Given the description of an element on the screen output the (x, y) to click on. 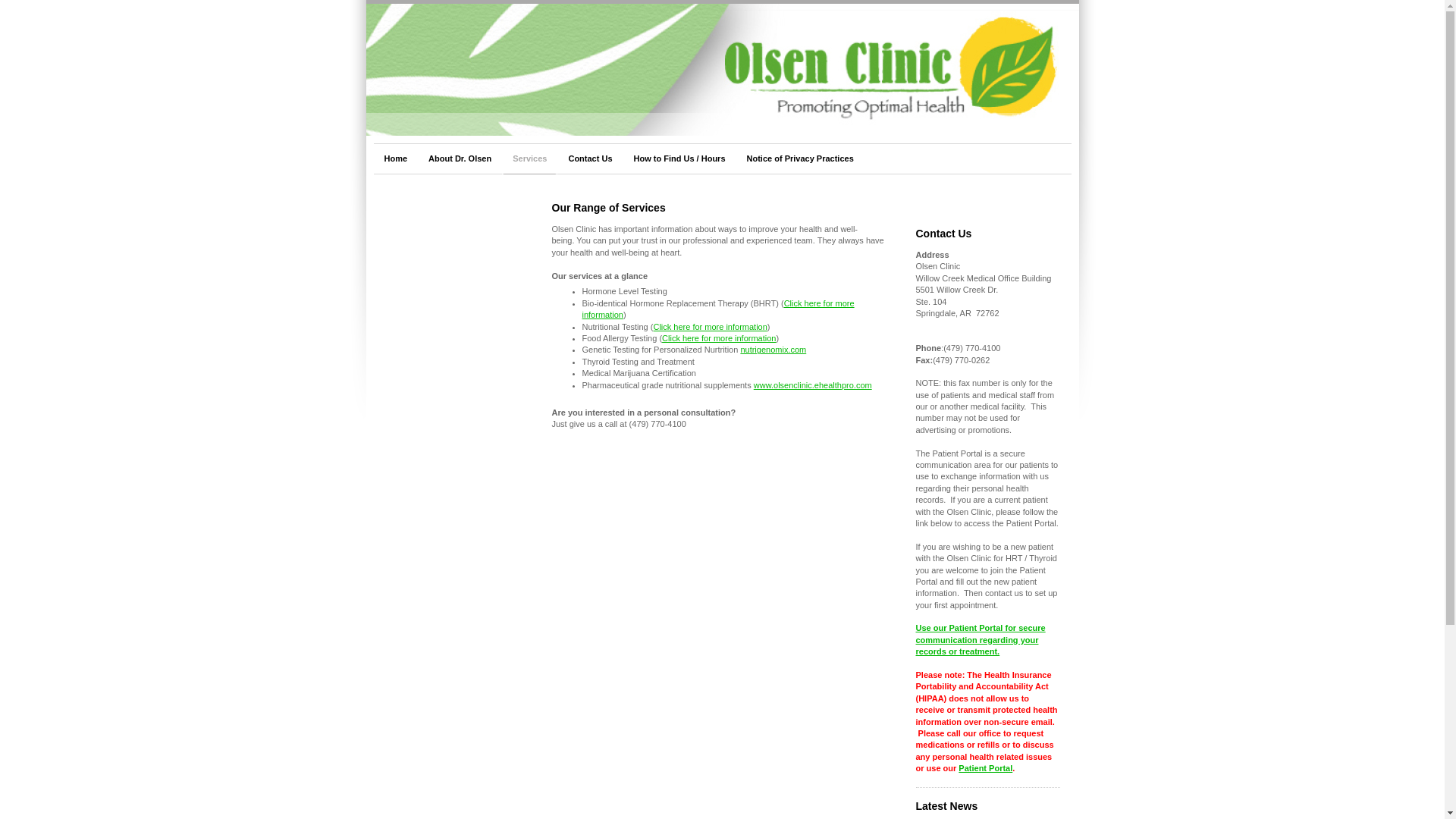
www.olsenclinic.ehealthpro.com (813, 384)
Click here for more information (718, 308)
nutrigenomix.com (772, 348)
About Dr. Olsen (459, 159)
Click here for more information (709, 326)
Contact Us (590, 159)
Services (529, 159)
Notice of Privacy Practices (800, 159)
Click here for more information (719, 338)
